Given the description of an element on the screen output the (x, y) to click on. 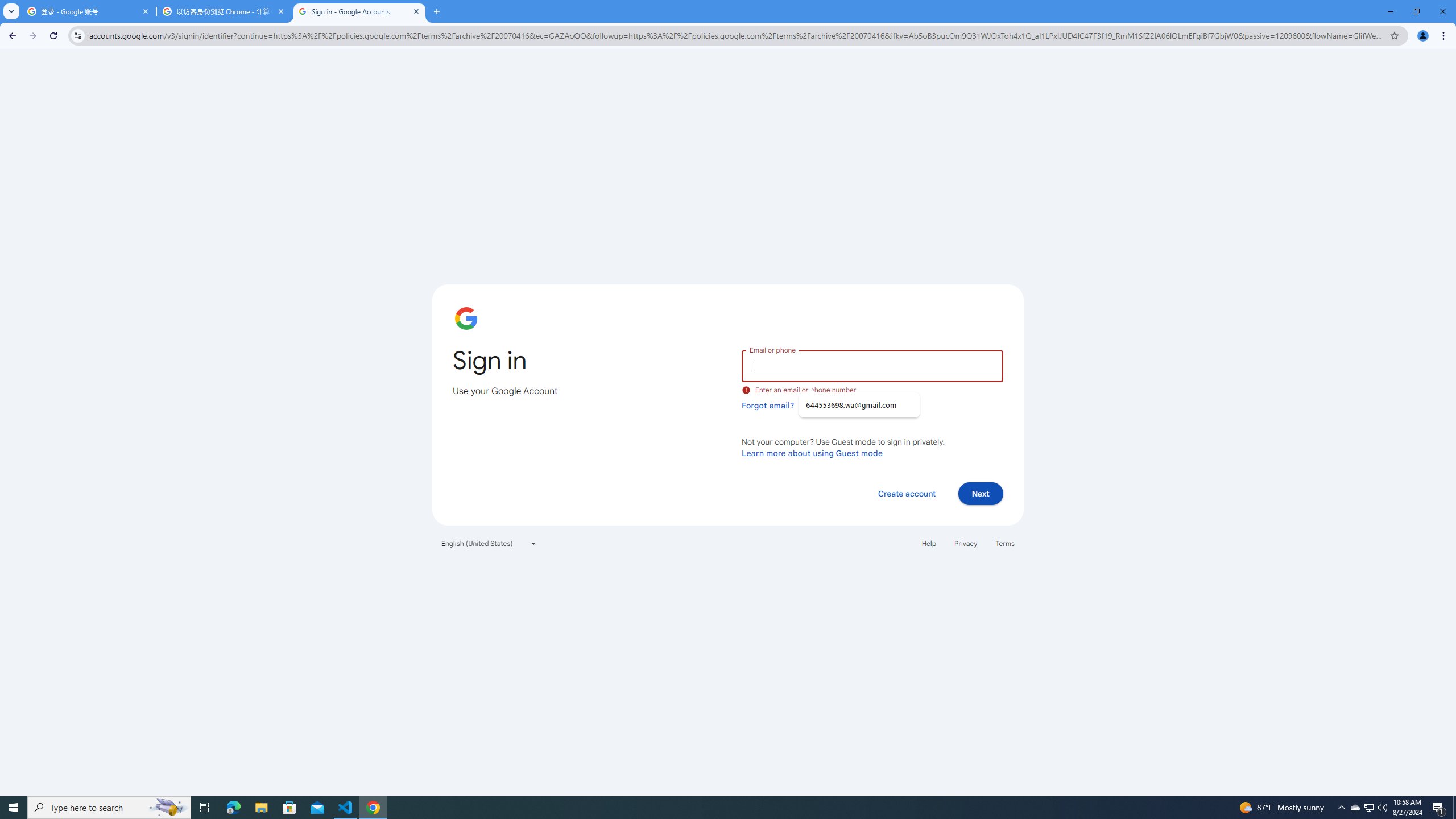
644553698.wa@gmail.com (858, 404)
Email or phone (871, 365)
English (United States) (489, 542)
Learn more about using Guest mode (812, 452)
